Given the description of an element on the screen output the (x, y) to click on. 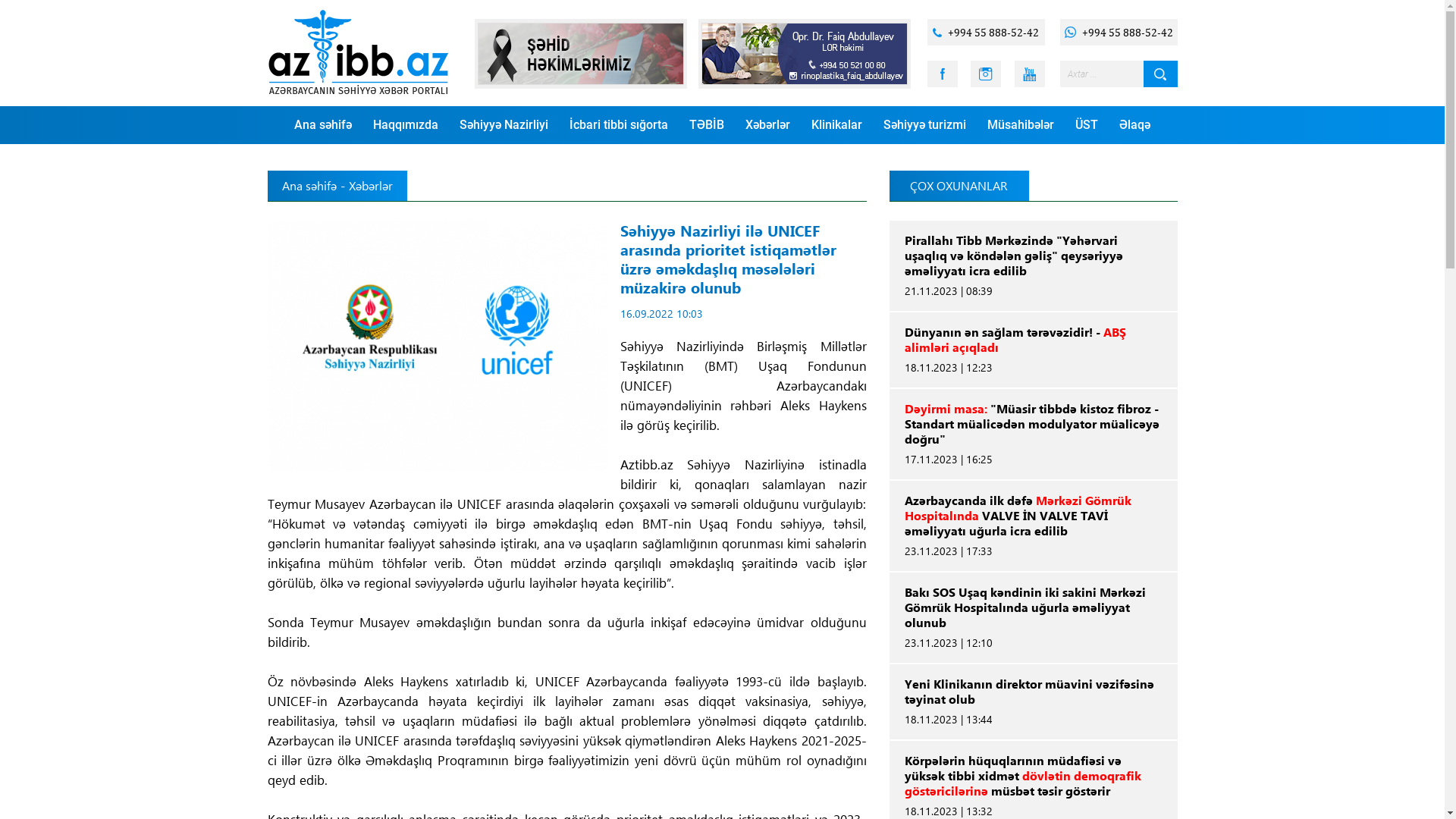
+994 55 888-52-42 Element type: text (1118, 31)
Klinikalar Element type: text (836, 125)
+994 55 888-52-42 Element type: text (985, 31)
